Given the description of an element on the screen output the (x, y) to click on. 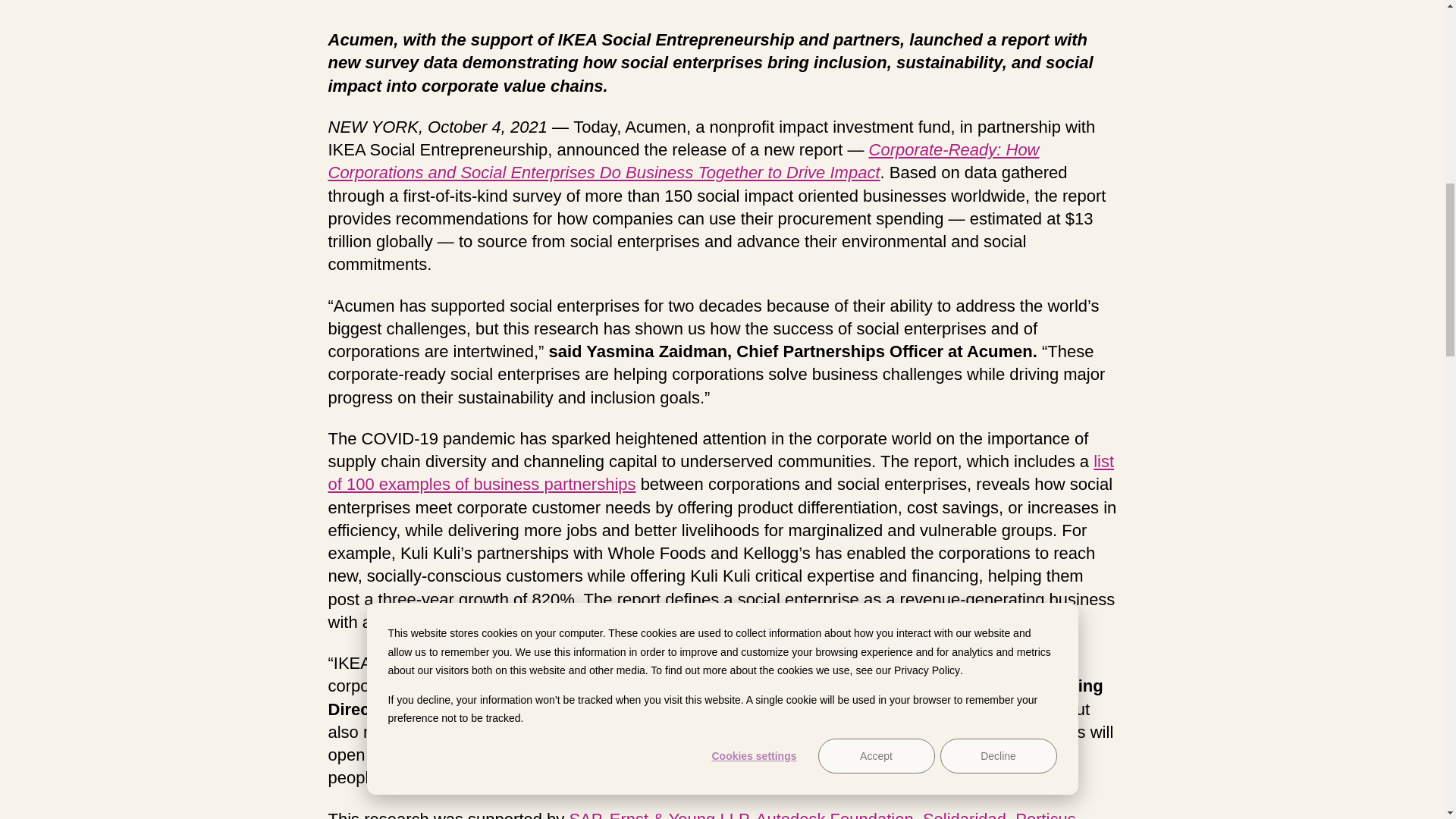
SAP (584, 814)
Autodesk Foundation (834, 814)
list of 100 examples of business partnerships (720, 473)
Solidaridad (964, 814)
Porticus (1044, 814)
